Given the description of an element on the screen output the (x, y) to click on. 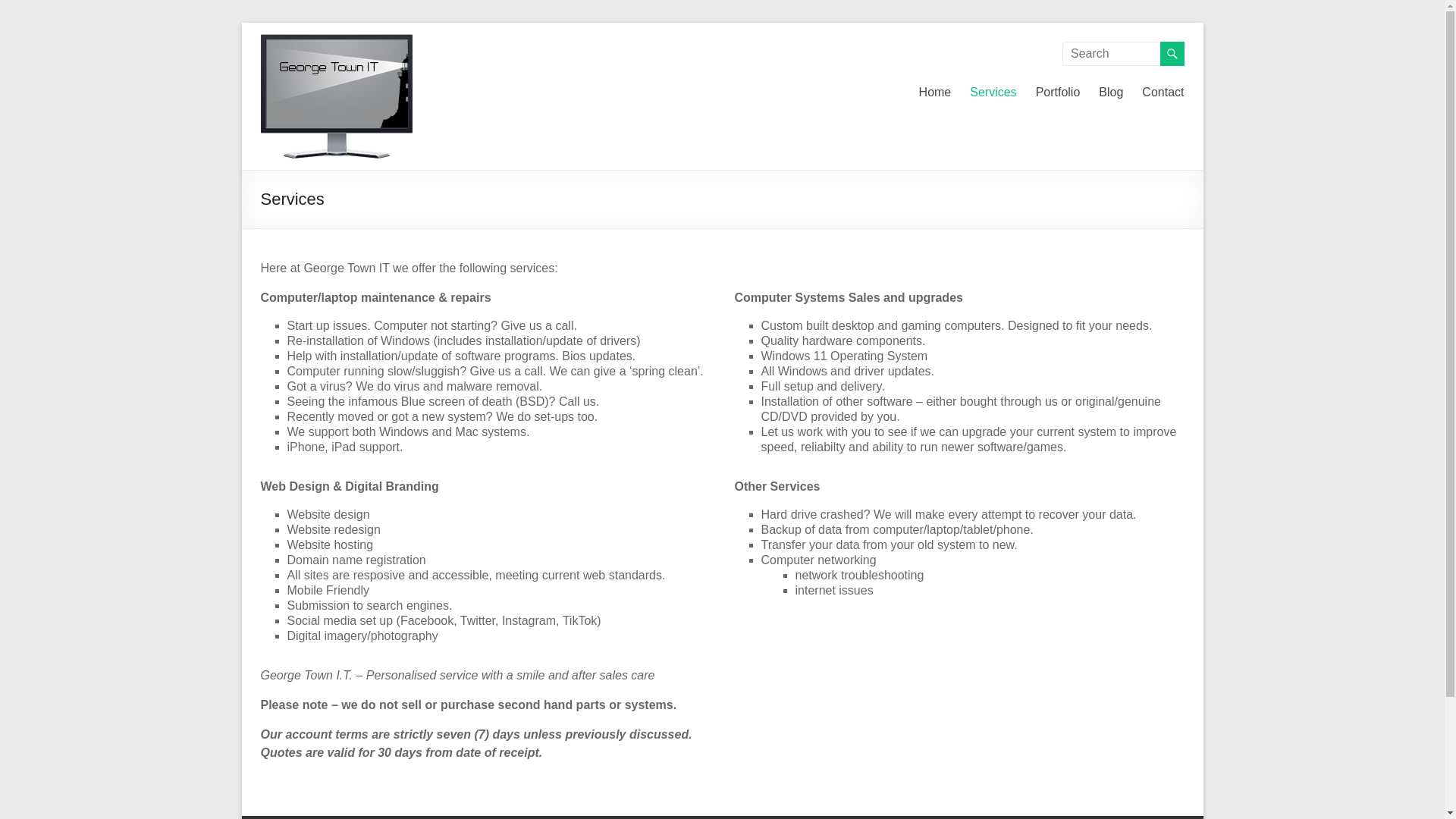
Services Element type: text (992, 92)
Blog Element type: text (1110, 92)
George Town IT Element type: text (304, 82)
Portfolio Element type: text (1057, 92)
Contact Element type: text (1162, 92)
Home Element type: text (935, 92)
